Given the description of an element on the screen output the (x, y) to click on. 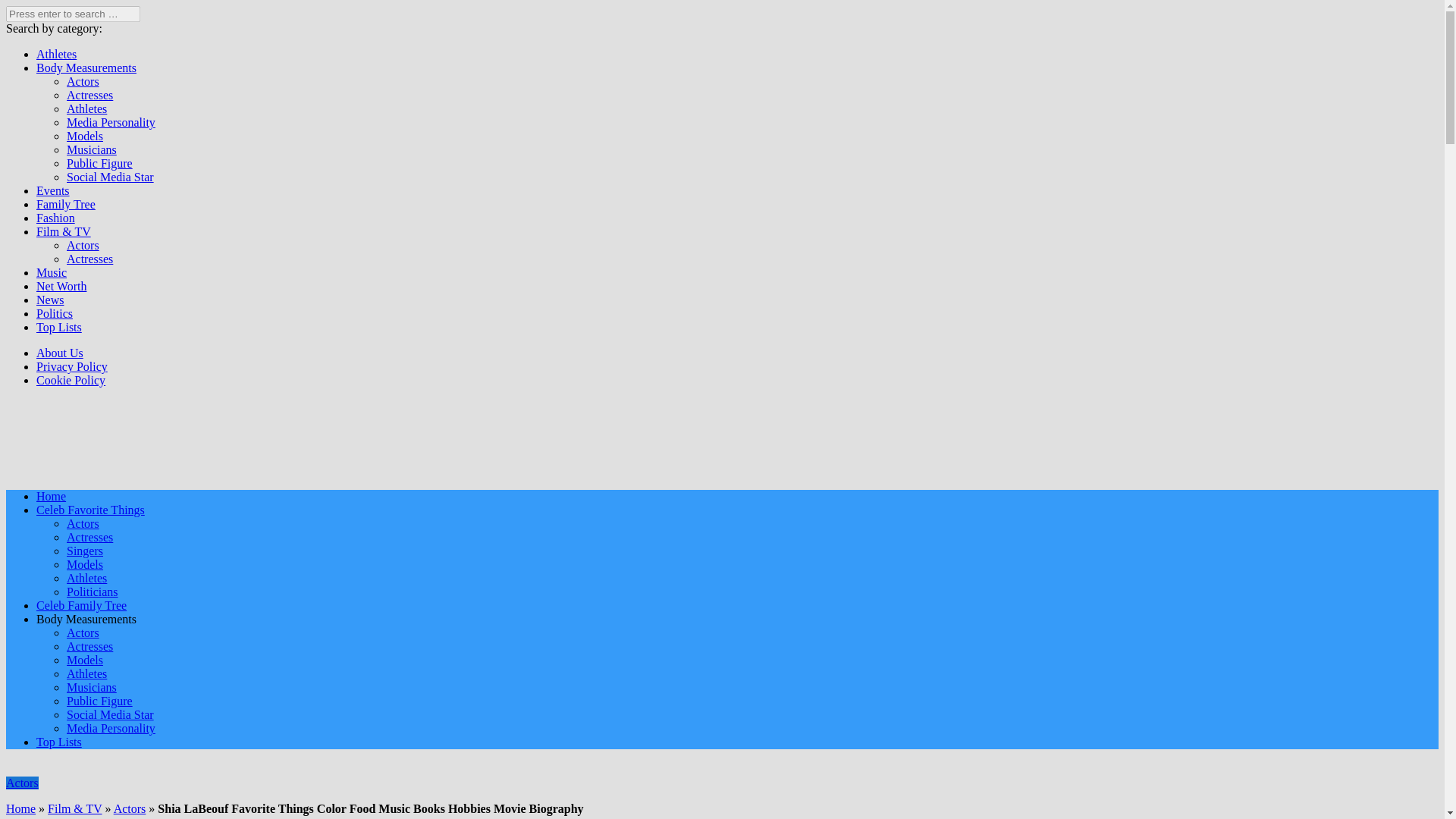
Home (50, 495)
Body Measurements (86, 67)
Social Media Star (110, 176)
About Us (59, 352)
News (50, 299)
Fashion (55, 217)
Models (84, 563)
Celeb Family Tree (81, 604)
Models (84, 659)
Models (84, 135)
